Given the description of an element on the screen output the (x, y) to click on. 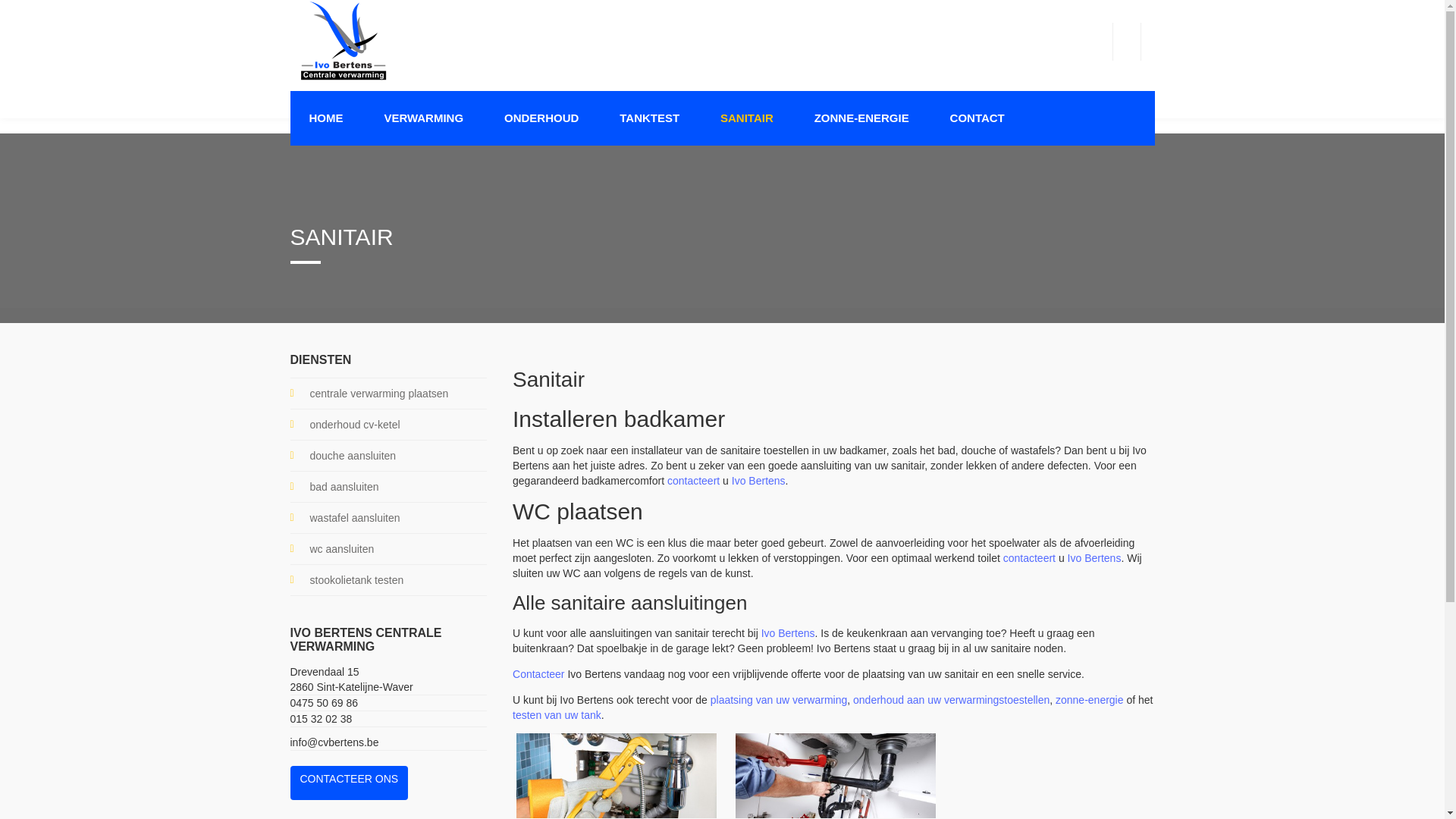
zonne-energie Element type: text (1089, 699)
Ivo Bertens Element type: text (788, 632)
plaatsing van uw verwarming Element type: text (778, 699)
contacteert Element type: text (693, 480)
contacteert Element type: text (1029, 558)
centrale verwarming plaatsen Element type: text (387, 393)
SANITAIR Element type: text (746, 118)
Ivo Bertens Element type: text (1094, 558)
TANKTEST Element type: text (649, 118)
ONDERHOUD Element type: text (541, 118)
CONTACT Element type: text (977, 118)
wc aansluiten Element type: text (387, 548)
CONTACTEER ONS Element type: text (348, 782)
onderhoud cv-ketel Element type: text (387, 424)
ZONNE-ENERGIE Element type: text (861, 118)
HOME Element type: text (326, 118)
wastafel aansluiten Element type: text (387, 517)
bad aansluiten Element type: text (387, 486)
stookolietank testen Element type: text (387, 579)
testen van uw tank Element type: text (556, 714)
Contacteer Element type: text (538, 673)
Ivo Bertens Element type: text (758, 480)
douche aansluiten Element type: text (387, 455)
onderhoud aan uw verwarmingstoestellen Element type: text (951, 699)
VERWARMING Element type: text (423, 118)
